Given the description of an element on the screen output the (x, y) to click on. 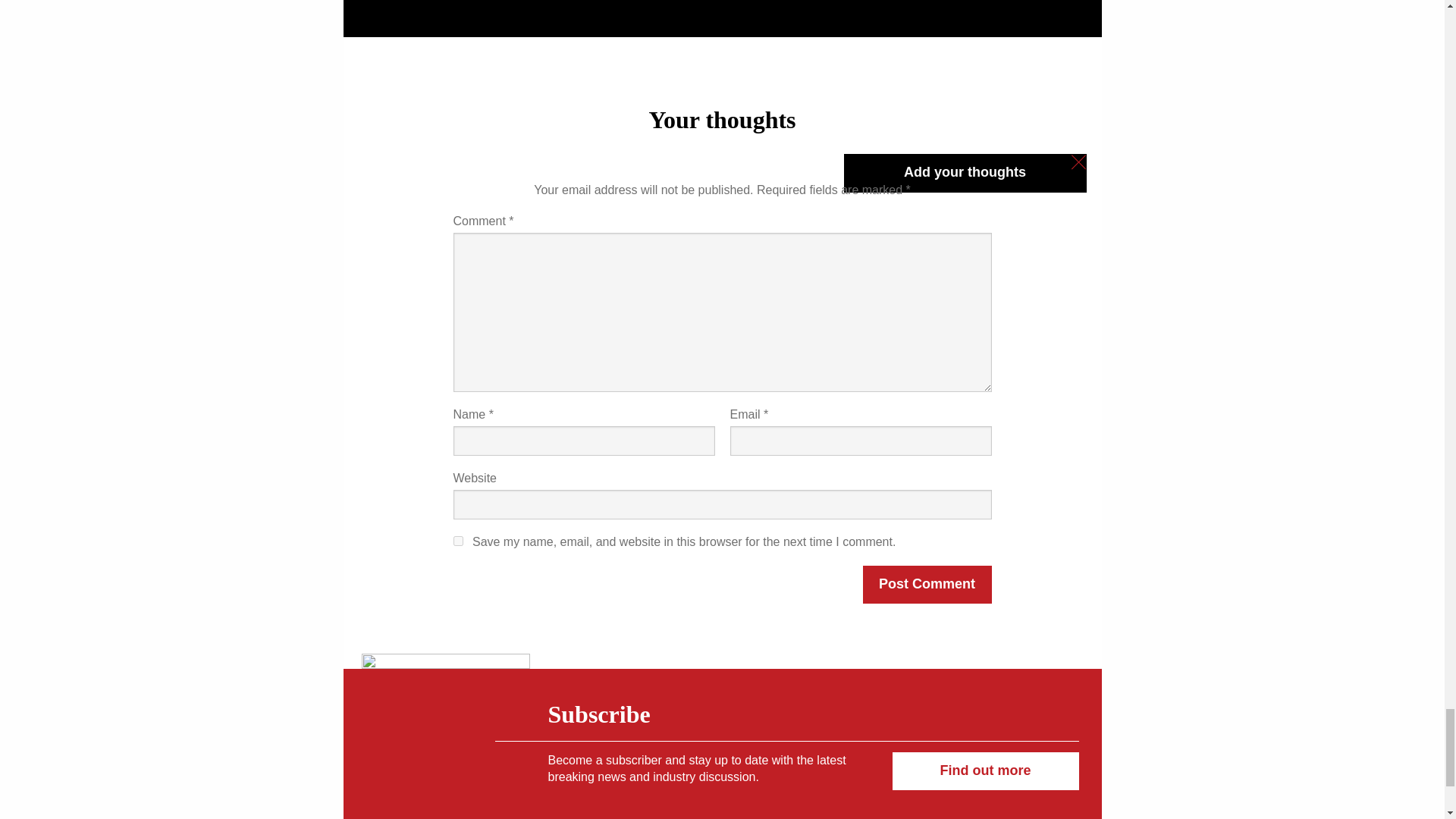
yes (457, 541)
Post Comment (927, 584)
